Given the description of an element on the screen output the (x, y) to click on. 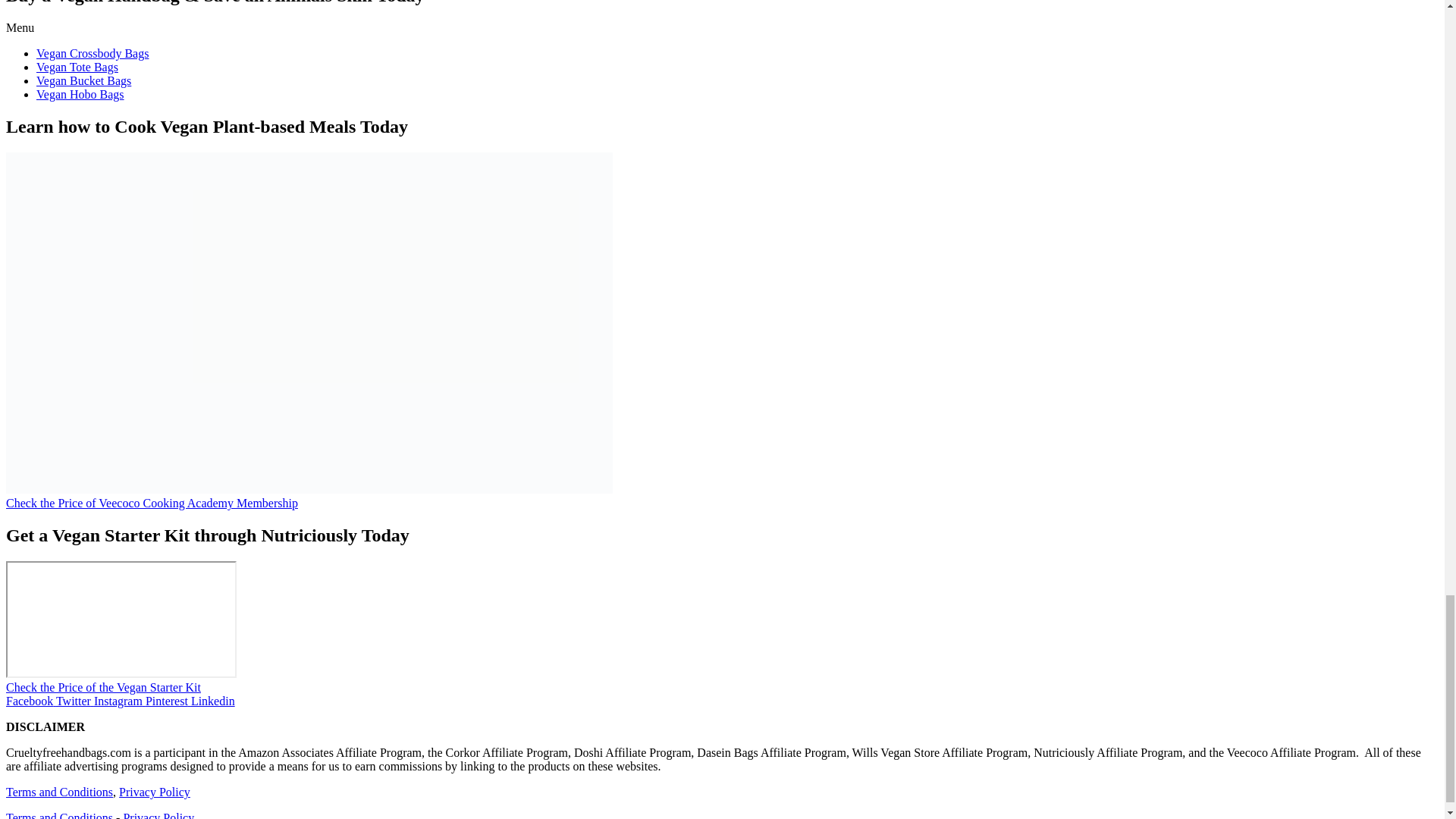
youtube Video Player (120, 619)
